Given the description of an element on the screen output the (x, y) to click on. 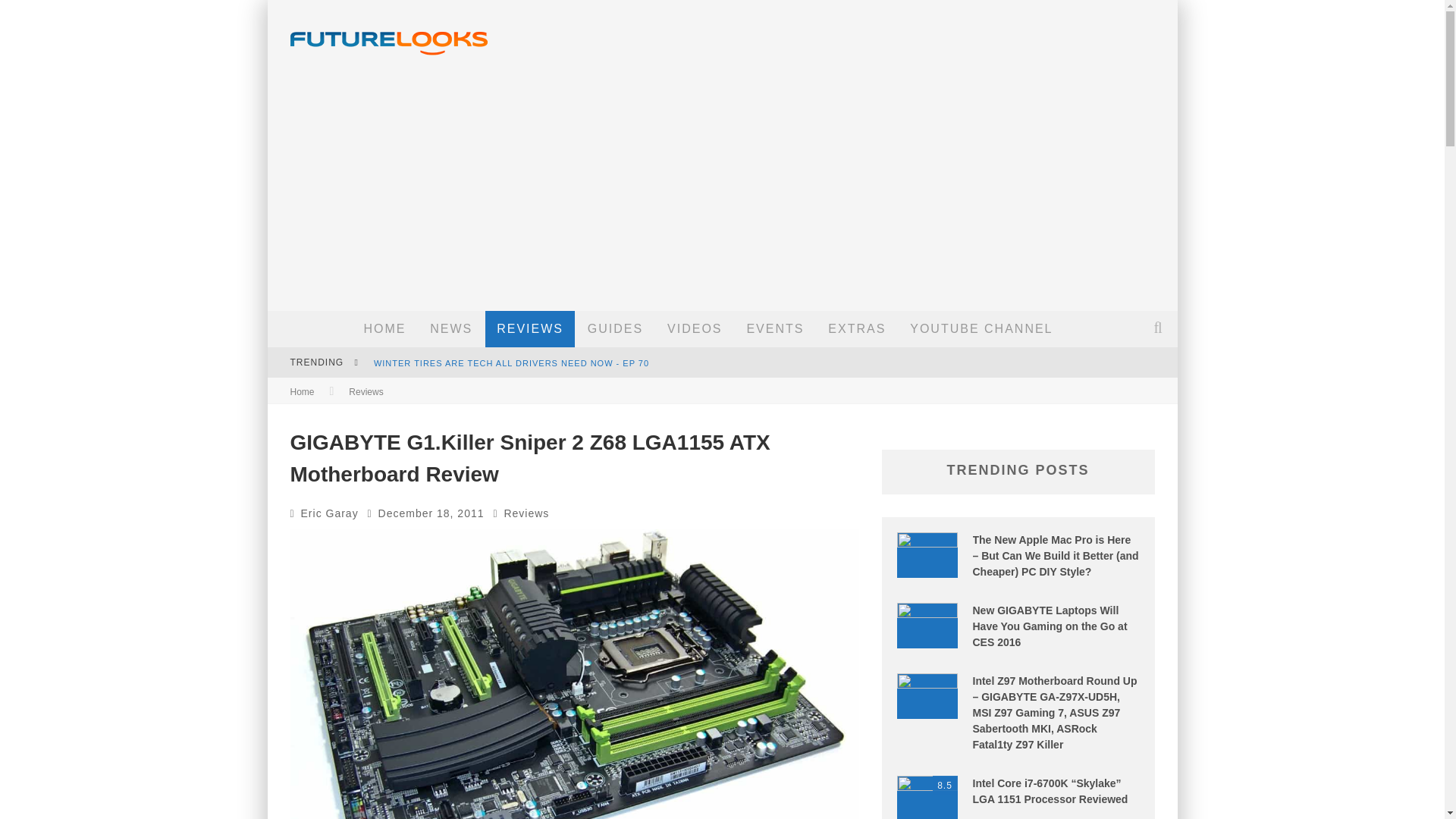
Winter Tires Are Tech ALL Drivers Need Now - EP 70 (511, 362)
View all posts in Reviews (525, 512)
REVIEWS (529, 329)
NEWS (451, 329)
HOME (384, 329)
View all posts in Reviews (365, 391)
